Given the description of an element on the screen output the (x, y) to click on. 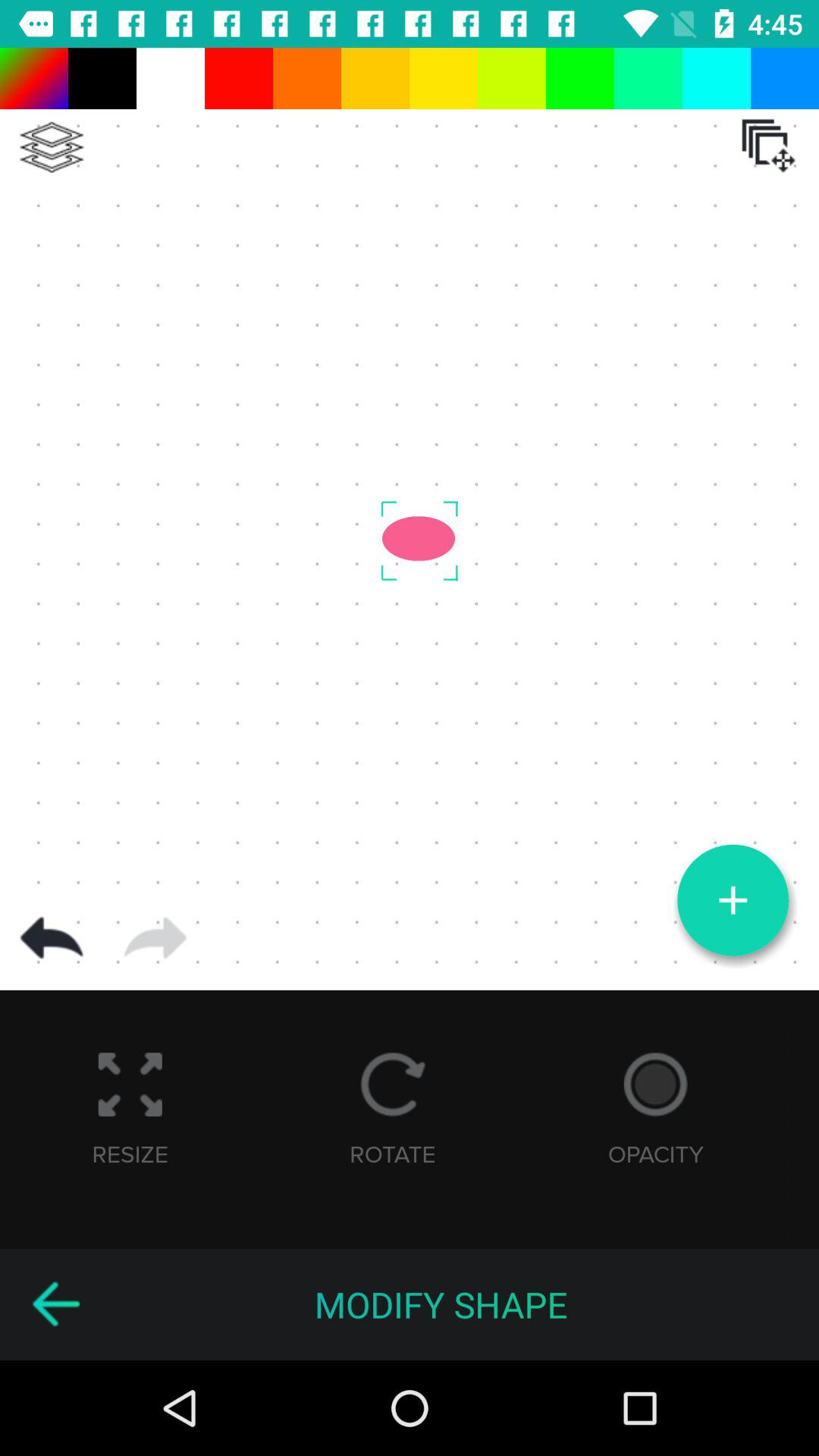
see more options button (733, 900)
